Given the description of an element on the screen output the (x, y) to click on. 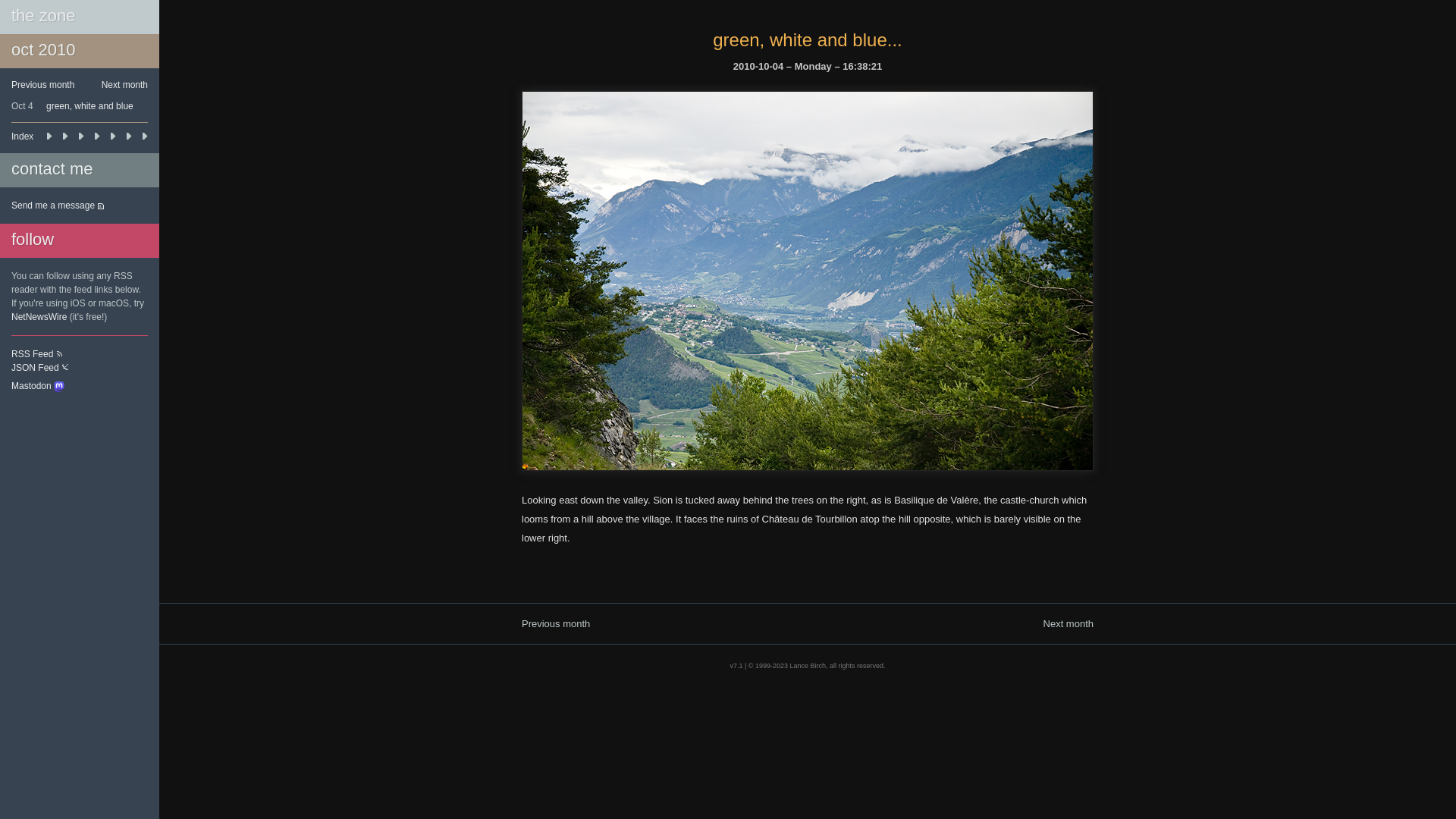
Next month Element type: text (954, 623)
Mastodon Element type: text (37, 383)
JSON Feed Element type: text (40, 367)
green, white and blue Element type: text (89, 105)
contact me Element type: text (52, 168)
Send me a message Element type: text (57, 205)
green, white and blue... Element type: text (807, 39)
Next month Element type: text (117, 84)
Previous month Element type: text (668, 623)
RSS Feed Element type: text (37, 353)
Index Element type: text (79, 136)
Previous month Element type: text (49, 84)
NetNewsWire Element type: text (38, 316)
the zone Element type: text (43, 15)
